Given the description of an element on the screen output the (x, y) to click on. 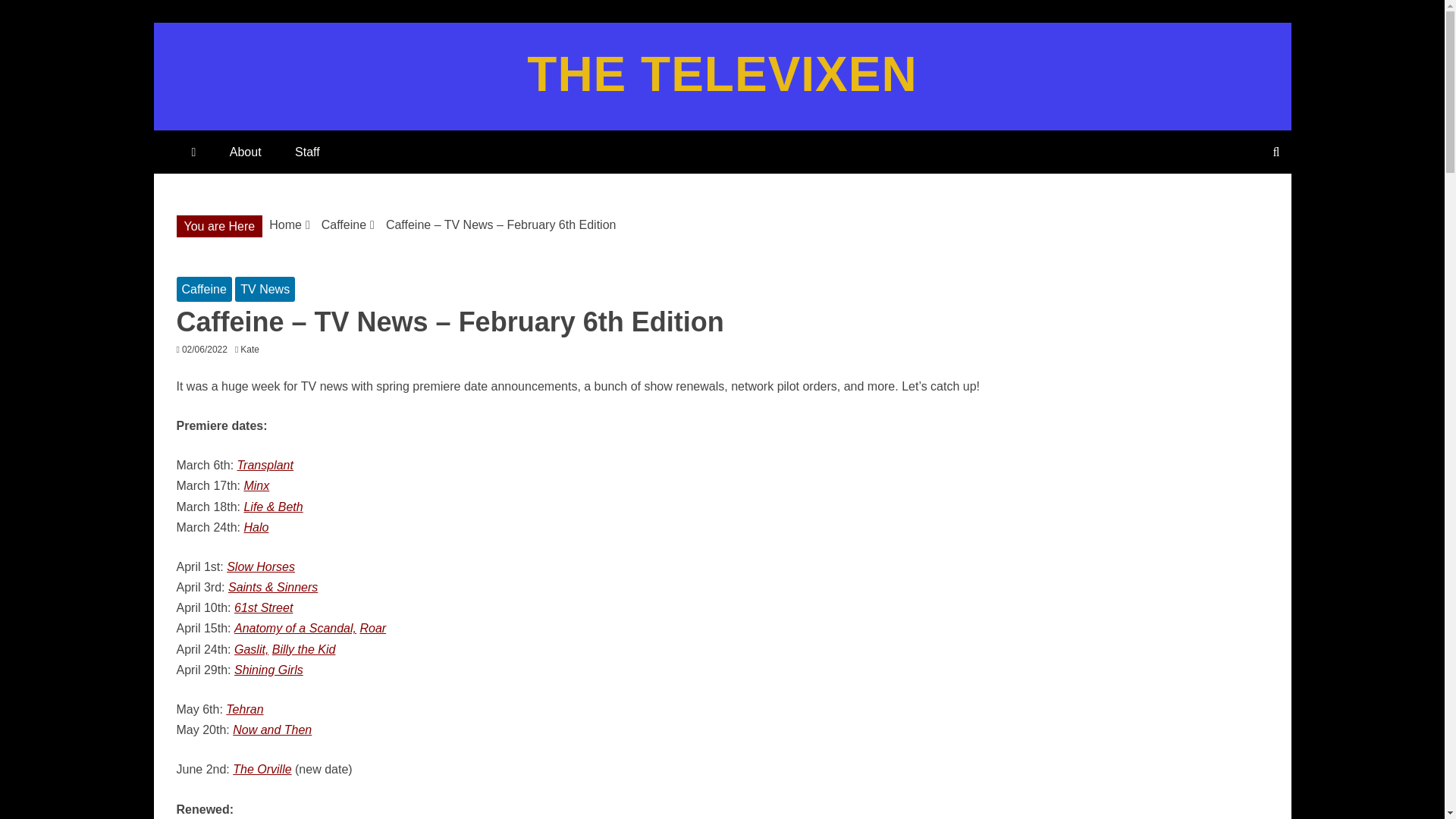
Transplant (265, 464)
Home (285, 224)
Caffeine (343, 224)
THE TELEVIXEN (722, 73)
Slow Horses (261, 566)
Kate (253, 348)
Tehran (244, 708)
The Orville (261, 768)
Staff (306, 151)
Halo (255, 526)
61st Street (263, 607)
Anatomy of a Scandal, (295, 627)
Caffeine (203, 289)
Roar (372, 627)
